Given the description of an element on the screen output the (x, y) to click on. 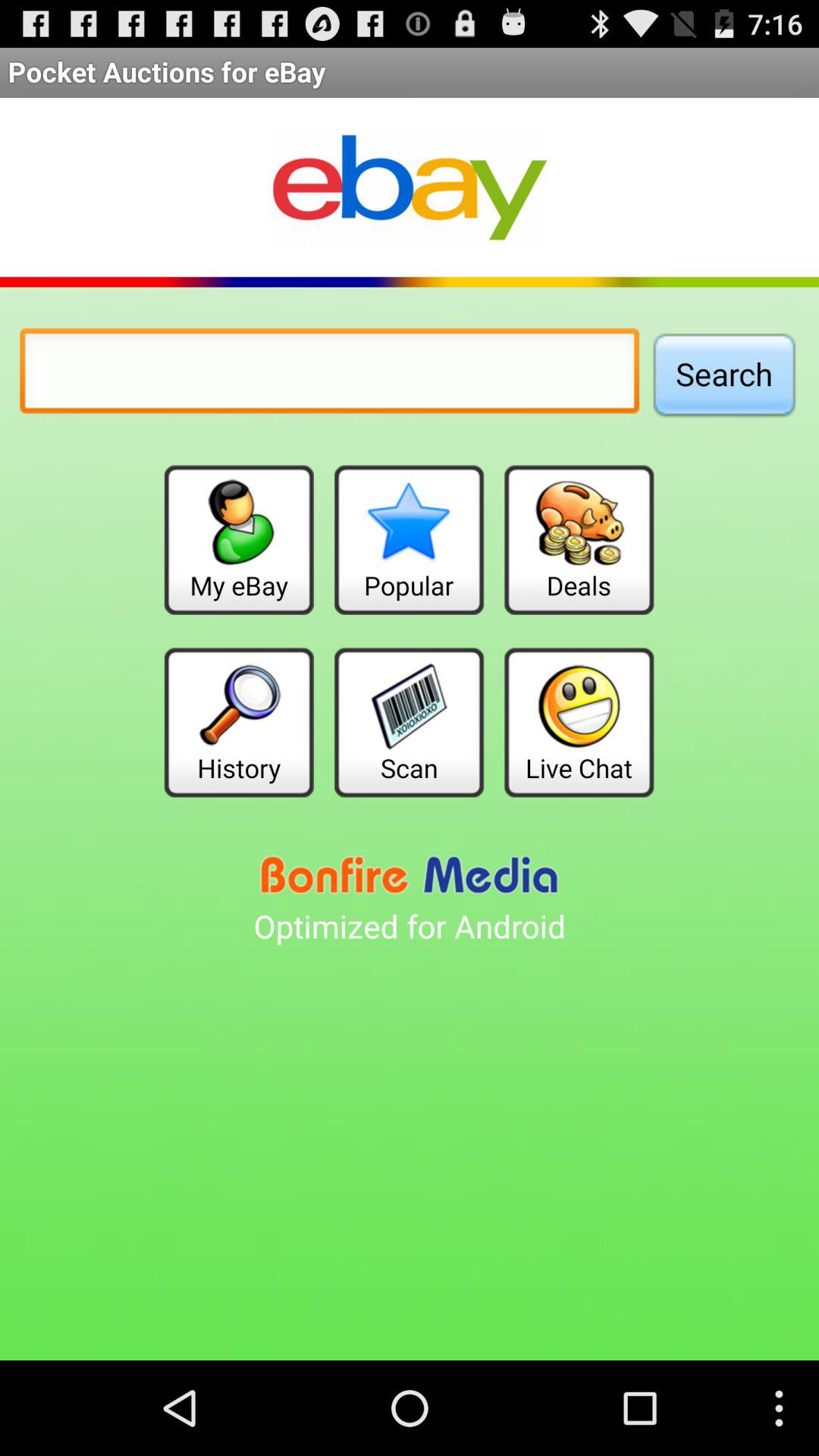
turn off the icon above the scan (409, 539)
